Given the description of an element on the screen output the (x, y) to click on. 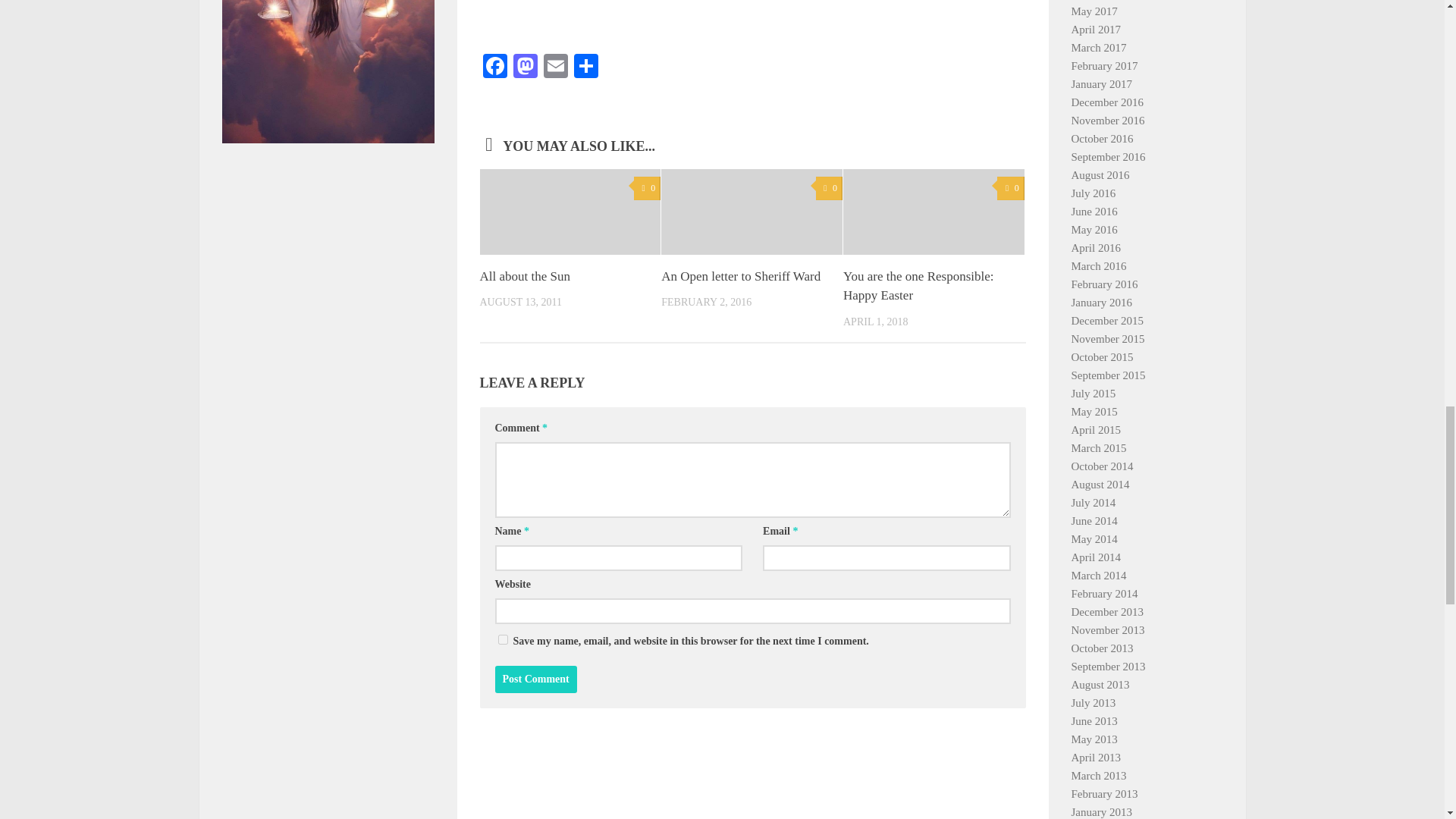
Facebook (494, 67)
yes (501, 639)
Mastodon (524, 67)
Email (555, 67)
Mastodon (524, 67)
Share (584, 67)
Facebook (494, 67)
Post Comment (535, 678)
Email (555, 67)
0 (647, 187)
All about the Sun (524, 276)
